Given the description of an element on the screen output the (x, y) to click on. 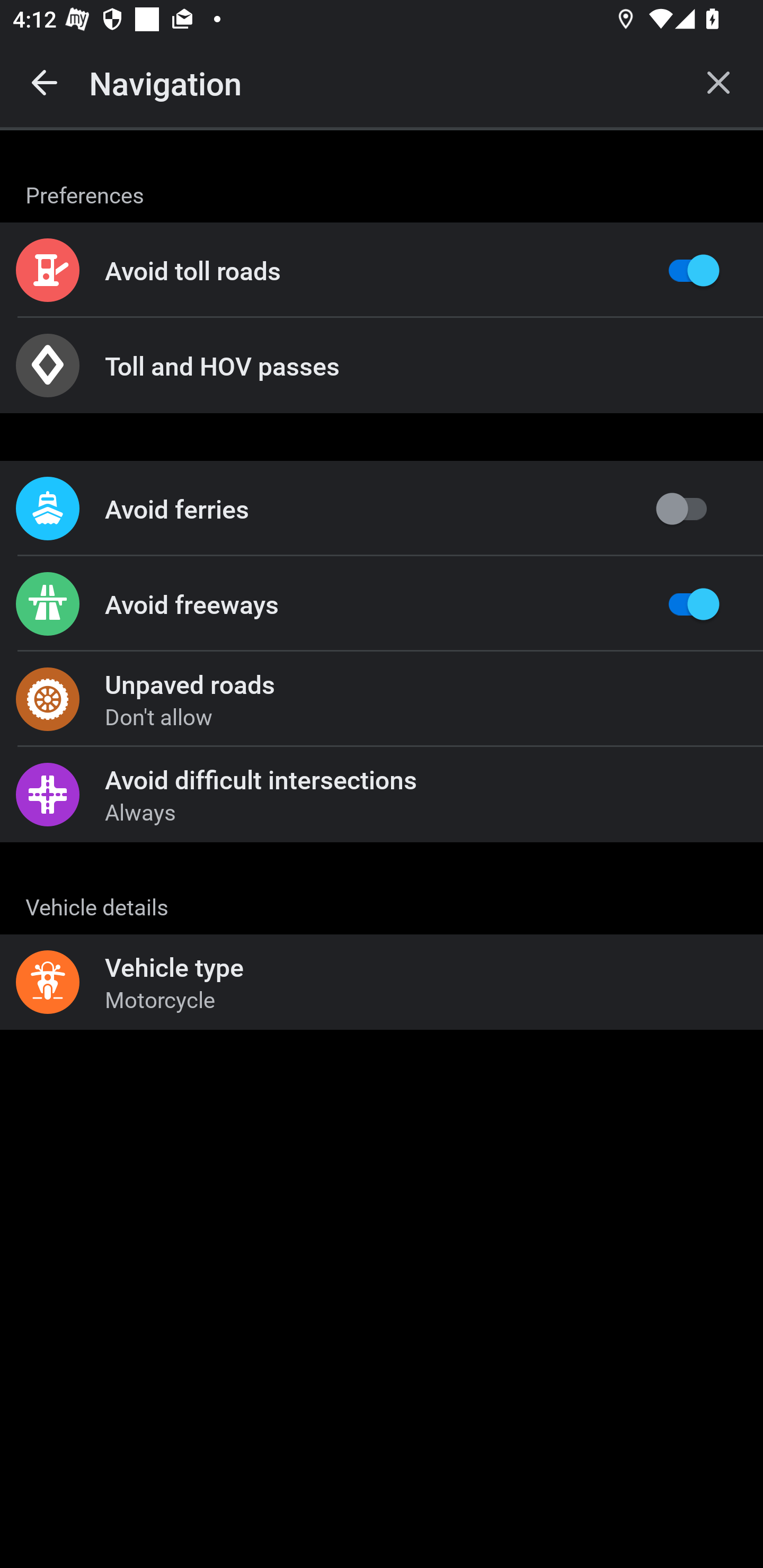
Avoid toll roads (381, 270)
Toll and HOV passes (381, 365)
Avoid ferries (381, 508)
Avoid freeways (381, 604)
Unpaved roads Don't allow (381, 699)
Avoid difficult intersections Always (381, 794)
ACTION_CELL_ICON Shut off ACTION_CELL_TEXT (381, 891)
Vehicle type Motorcycle (381, 982)
